Given the description of an element on the screen output the (x, y) to click on. 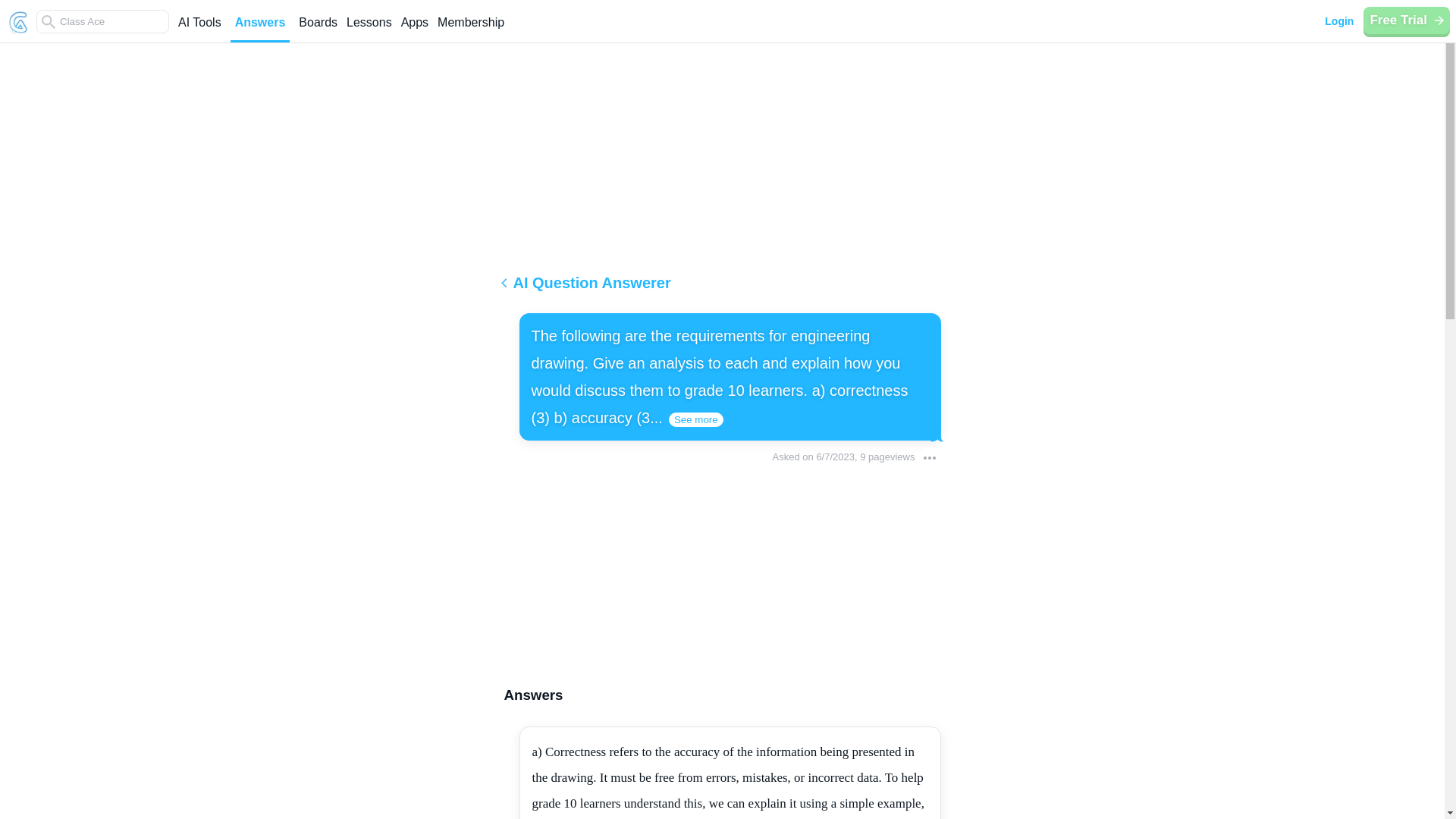
Membership (470, 28)
AI Question Answerer (722, 288)
Apps (414, 28)
Answers (259, 28)
Boards (317, 28)
Free Trial (1406, 20)
Login (1338, 21)
Lessons (368, 28)
See more (695, 419)
AI Tools (199, 28)
